Given the description of an element on the screen output the (x, y) to click on. 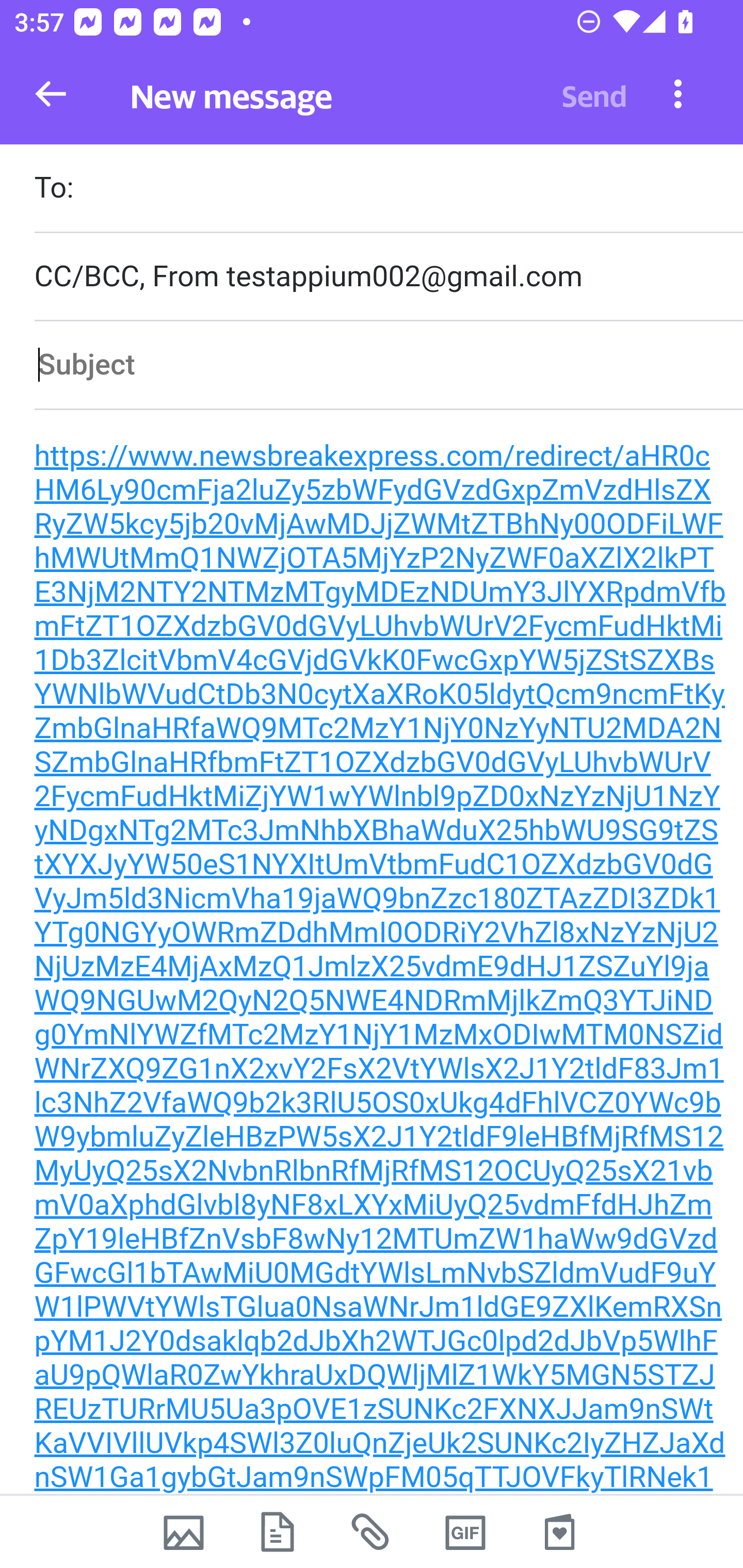
Back (50, 93)
Send (594, 93)
More options (677, 93)
To: (387, 189)
CC/BCC, From testappium002@gmail.com (387, 276)
Camera photos (183, 1531)
Device files (277, 1531)
Recent attachments from mail (371, 1531)
GIFs (465, 1531)
Stationery (559, 1531)
